Given the description of an element on the screen output the (x, y) to click on. 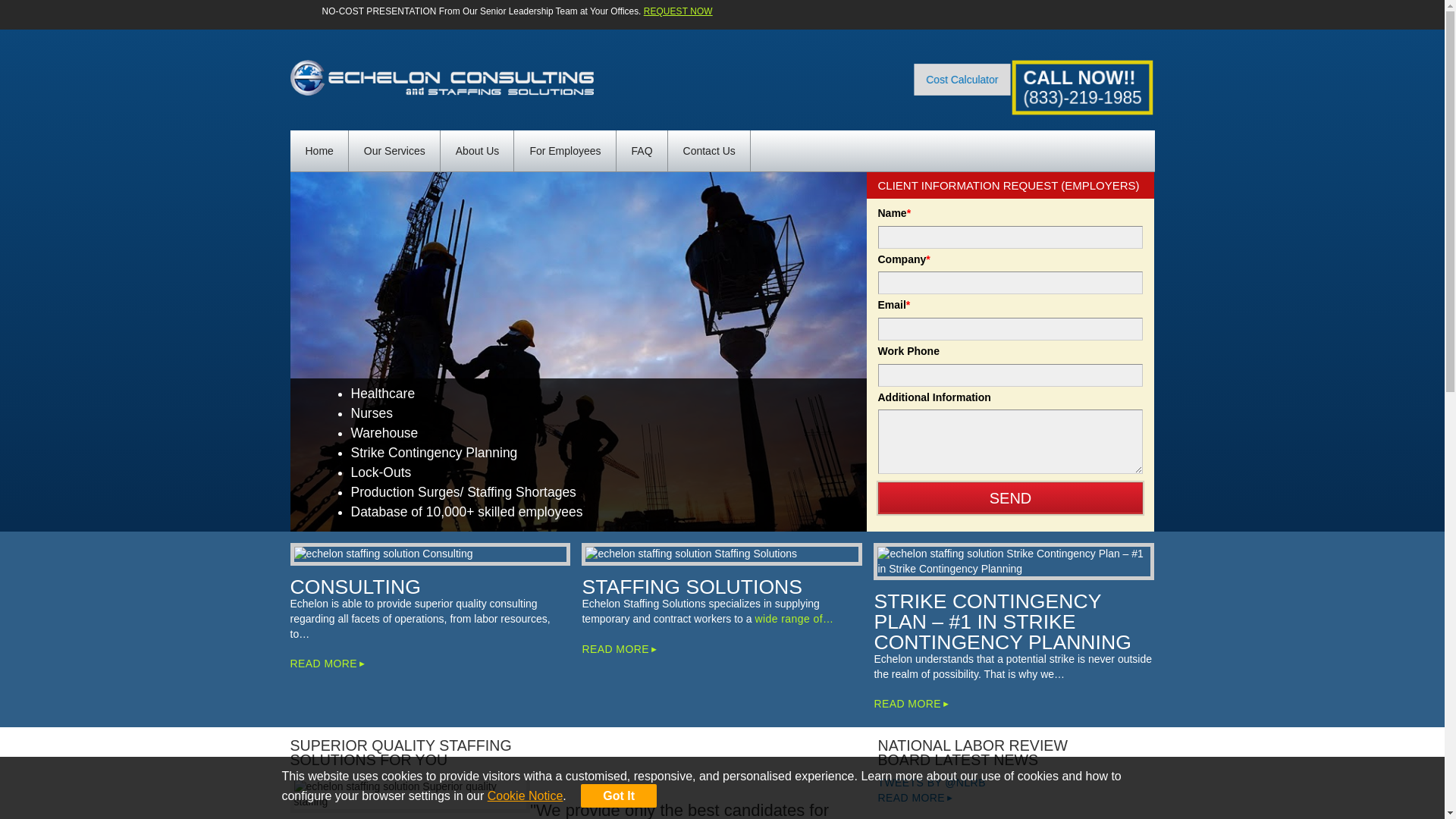
About Us (478, 151)
FAQ (641, 151)
Contact Us (709, 151)
Home (318, 151)
For Employees (564, 151)
Our Services (395, 151)
REQUEST NOW (678, 10)
Send (1009, 498)
Cost Calculator (965, 81)
Send (1009, 498)
